Given the description of an element on the screen output the (x, y) to click on. 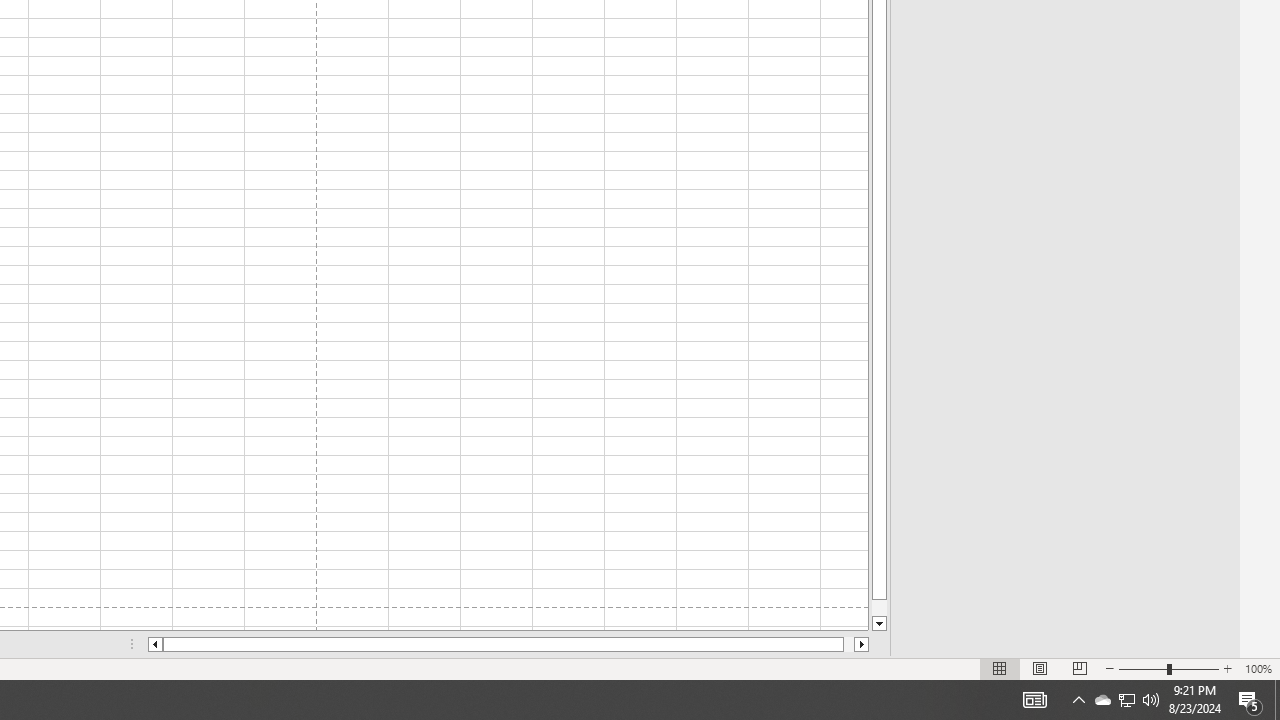
Page right (848, 644)
Q2790: 100% (1151, 699)
Page Break Preview (1079, 668)
Notification Chevron (1078, 699)
Zoom (1126, 699)
Action Center, 5 new notifications (1168, 668)
Zoom Out (1250, 699)
Show desktop (1142, 668)
Column right (1277, 699)
Column left (861, 644)
AutomationID: 4105 (153, 644)
Zoom In (1034, 699)
User Promoted Notification Area (1227, 668)
Page down (1126, 699)
